Given the description of an element on the screen output the (x, y) to click on. 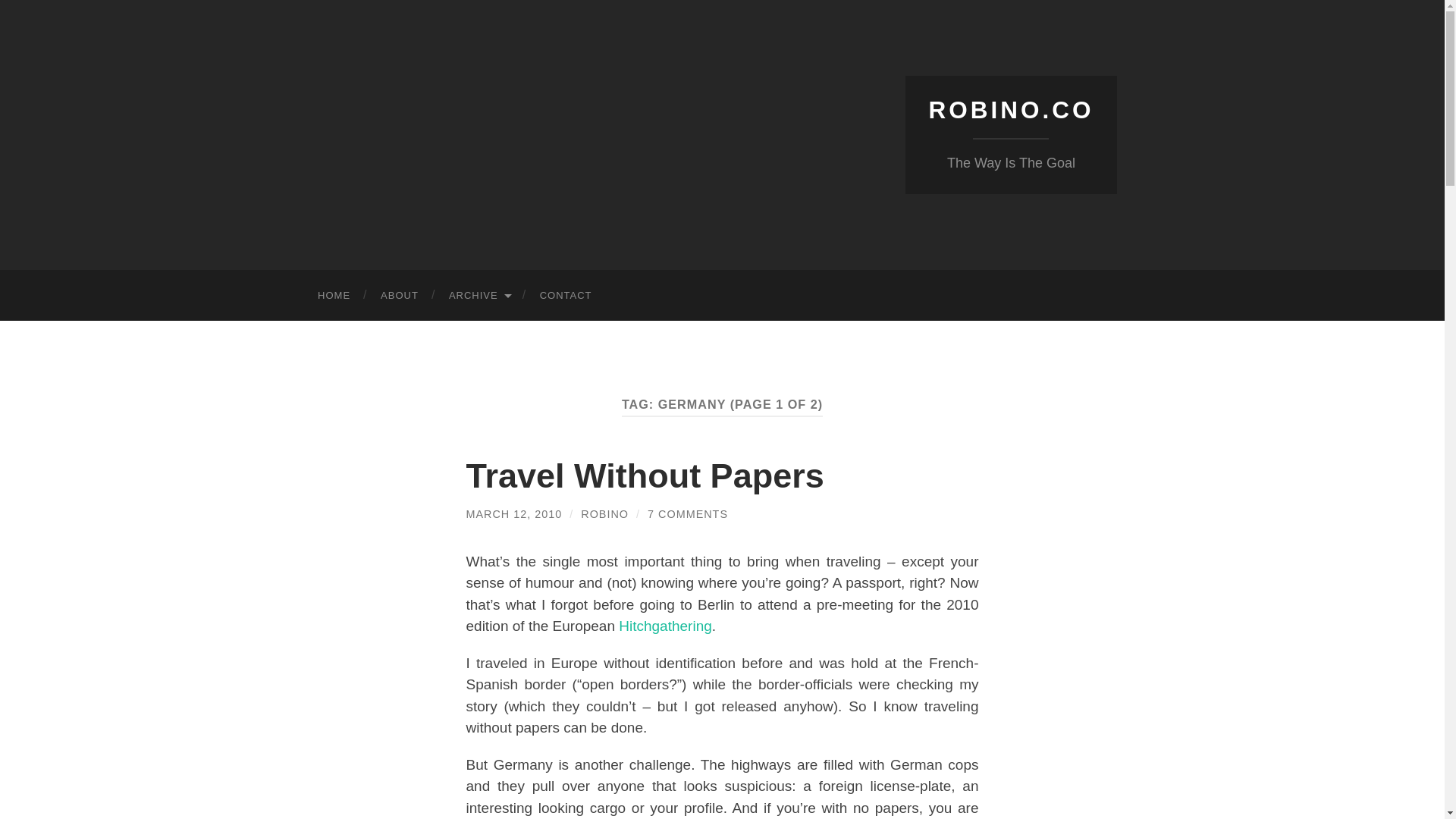
7 COMMENTS (687, 513)
ARCHIVE (478, 295)
ROBINO (604, 513)
Posts by robino (604, 513)
Hitchgathering (664, 625)
Travel Without Papers (644, 475)
MARCH 12, 2010 (513, 513)
CONTACT (565, 295)
HOME (333, 295)
ROBINO.CO (1010, 109)
